Given the description of an element on the screen output the (x, y) to click on. 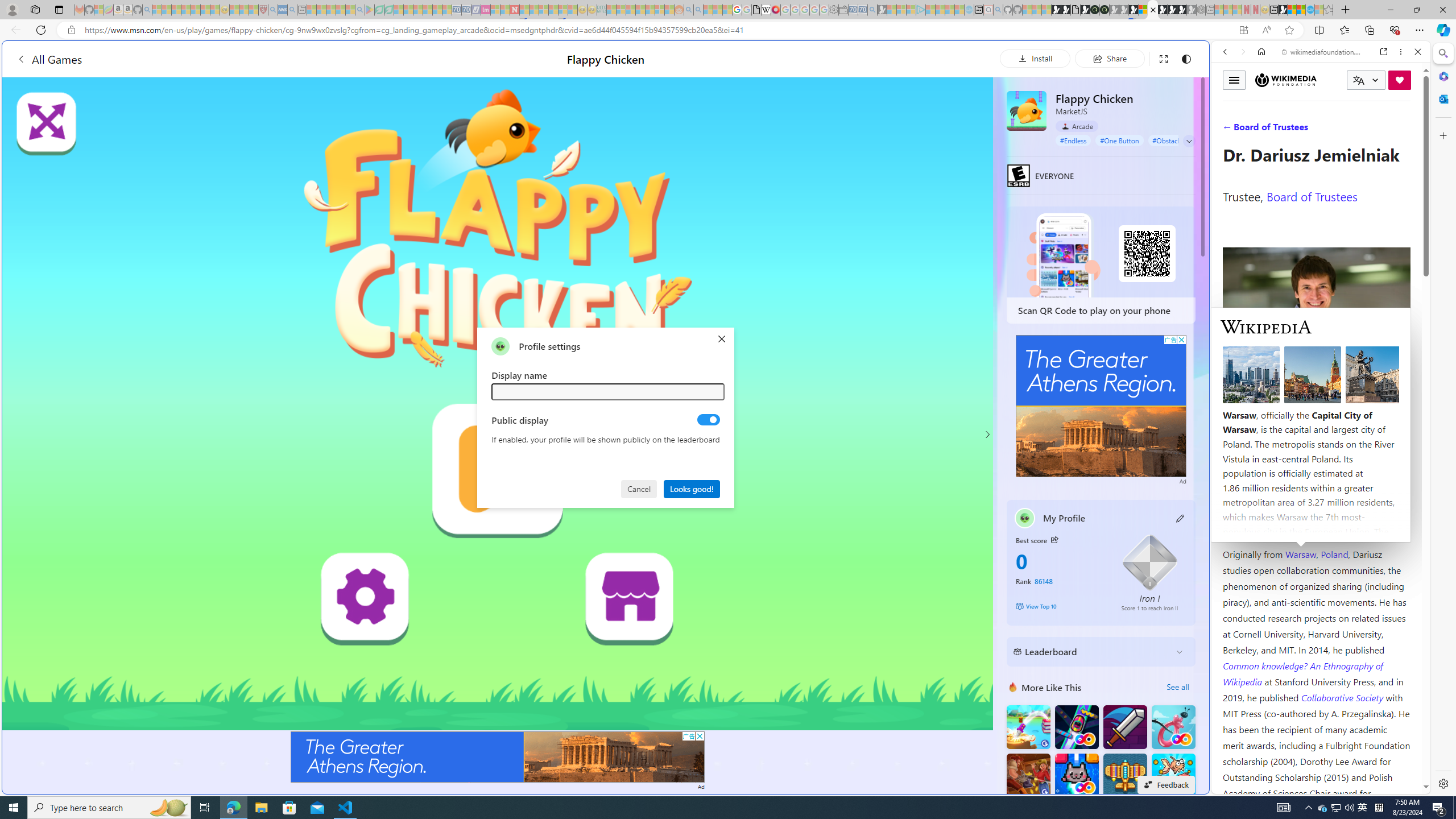
Earth has six continents not seven, radical new study claims (1300, 9)
Home | Sky Blue Bikes - Sky Blue Bikes (1118, 242)
AutomationID: cbb (1181, 339)
Frequently visited (965, 151)
